Given the description of an element on the screen output the (x, y) to click on. 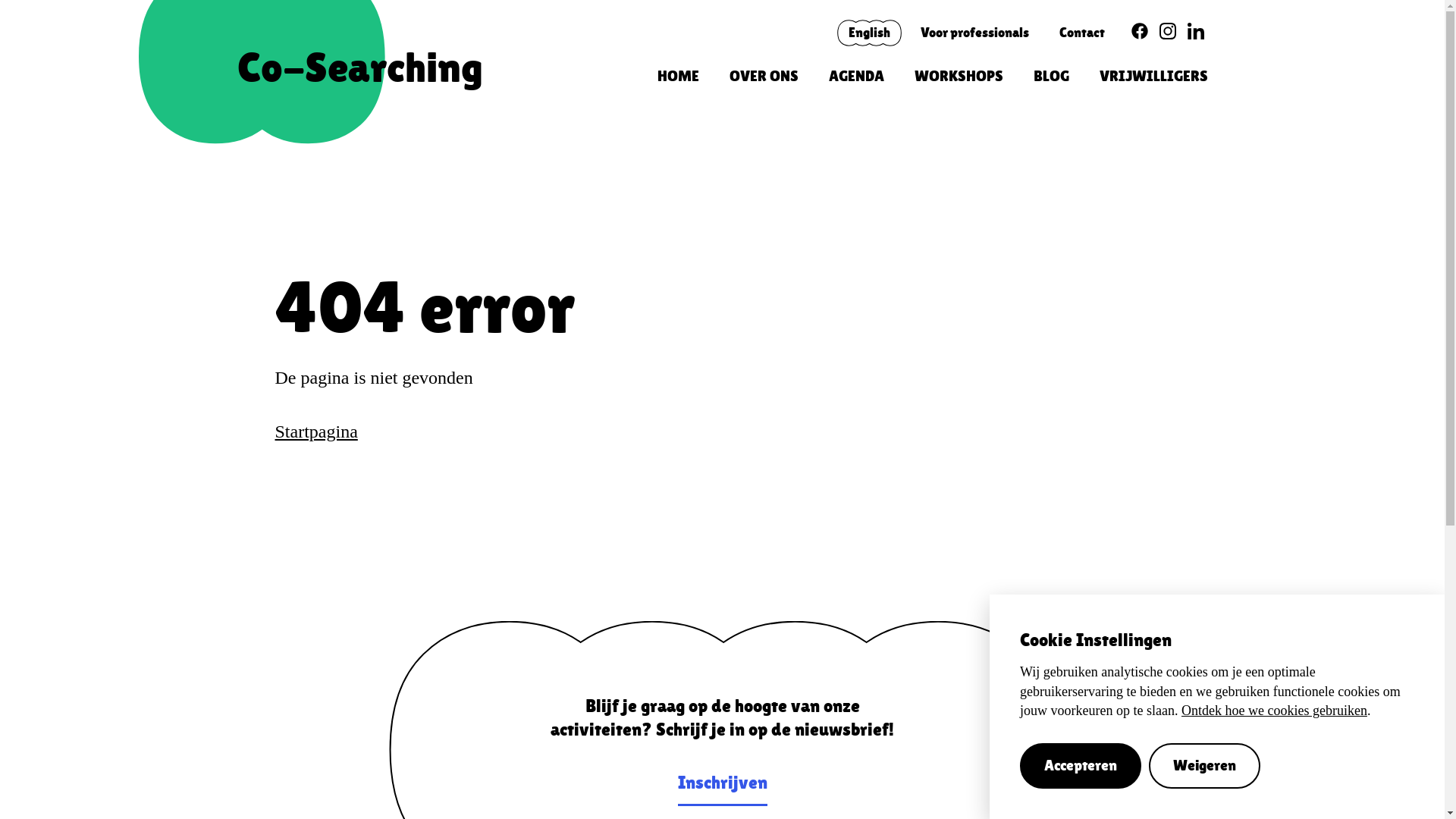
OVER ONS Element type: text (763, 76)
Inschrijven Element type: text (722, 783)
English Element type: text (868, 32)
BLOG Element type: text (1050, 76)
Co-Searching Element type: text (359, 67)
Startpagina Element type: text (315, 431)
Voor professionals Element type: text (974, 32)
Weigeren Element type: text (1204, 765)
Contact Element type: text (1081, 32)
Accepteren Element type: text (1080, 765)
WORKSHOPS Element type: text (958, 76)
AGENDA Element type: text (855, 76)
Subscribe Element type: text (721, 563)
Ontdek hoe we cookies gebruiken Element type: text (1274, 710)
VRIJWILLIGERS Element type: text (1153, 76)
HOME Element type: text (677, 76)
